Given the description of an element on the screen output the (x, y) to click on. 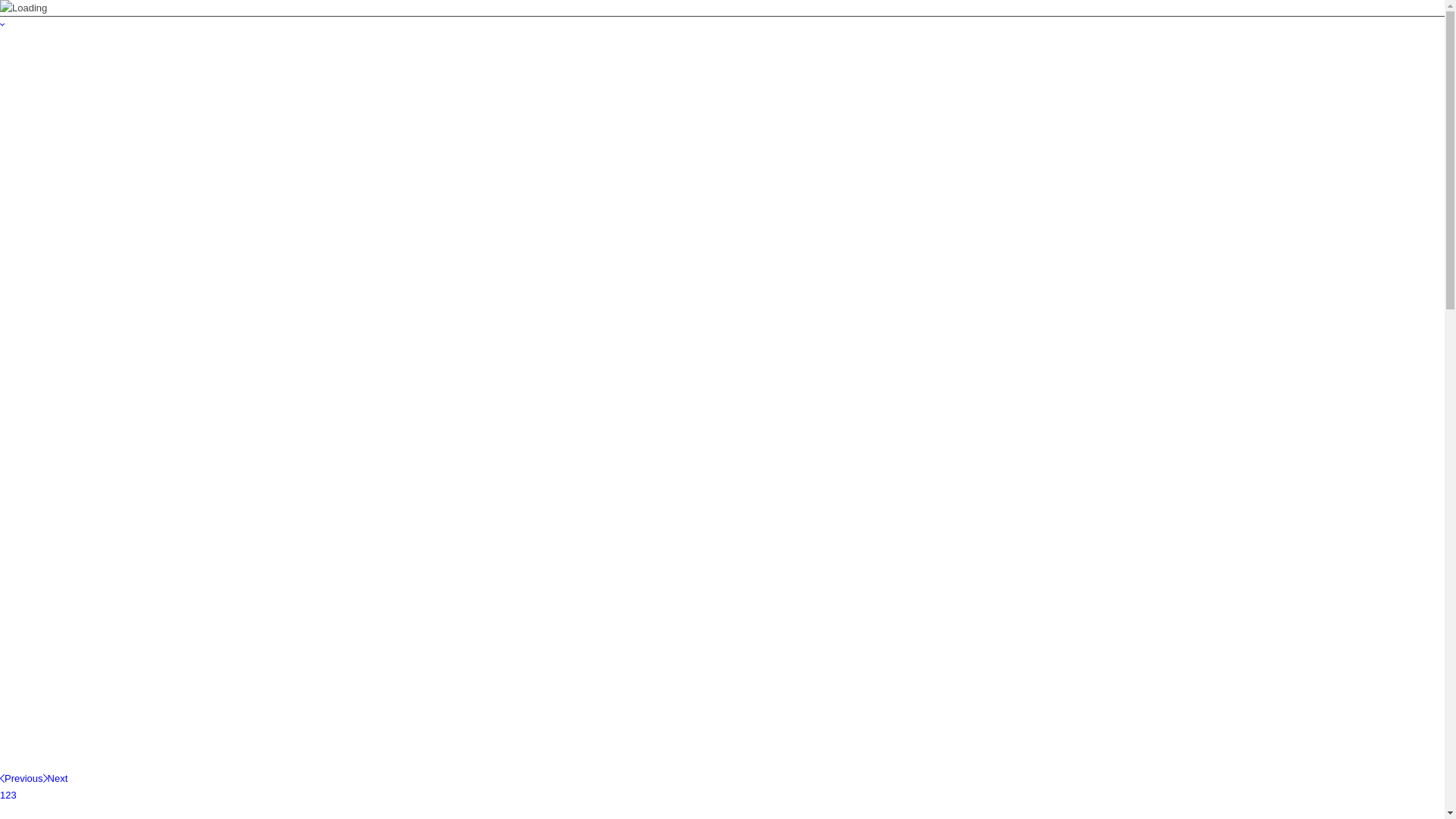
Next Element type: text (55, 778)
1 Element type: text (2, 794)
Previous Element type: text (21, 778)
2 Element type: text (7, 794)
3 Element type: text (12, 794)
Loading Element type: hover (23, 7)
